Given the description of an element on the screen output the (x, y) to click on. 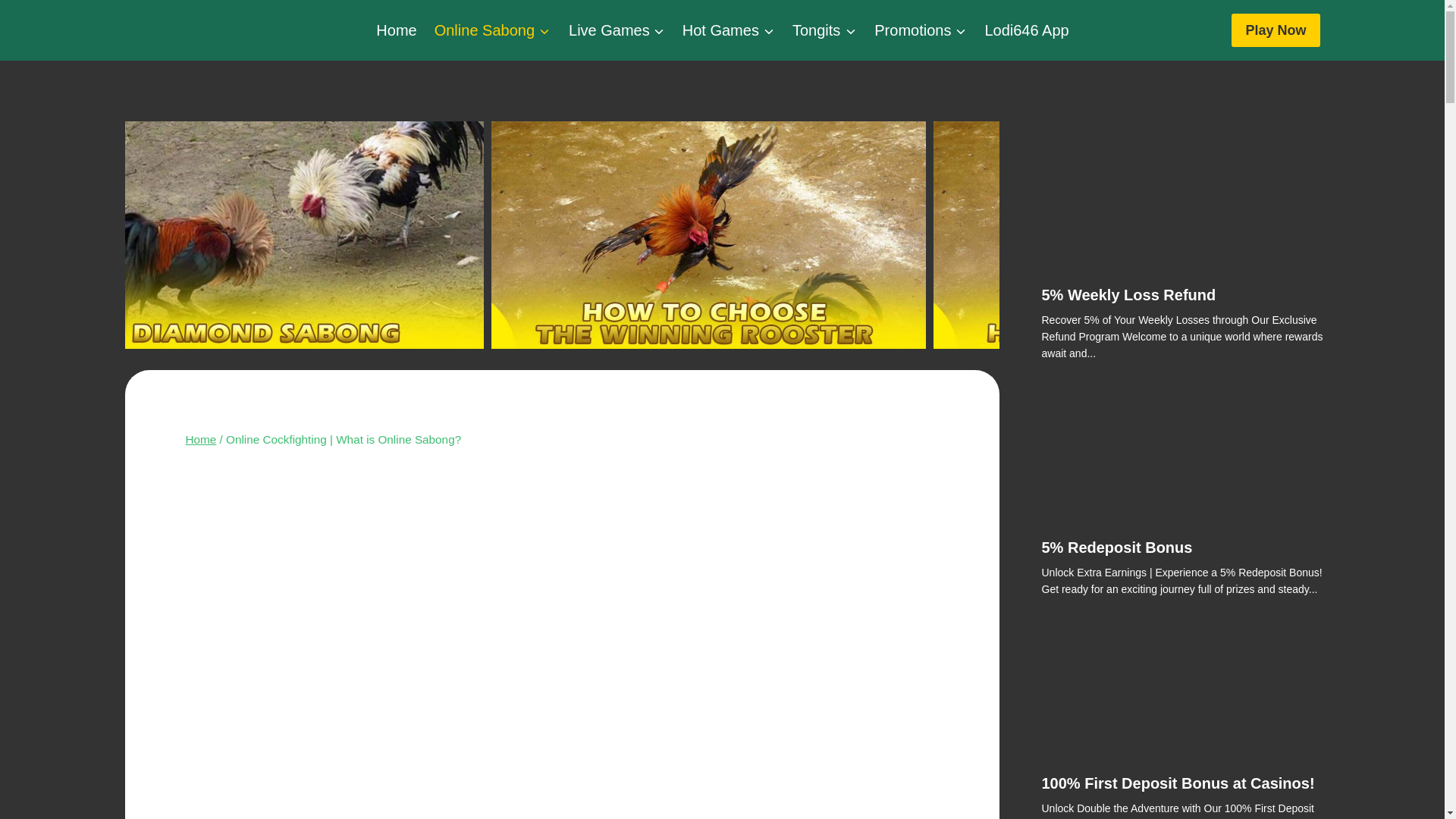
Lodi646 App (1026, 30)
Home (395, 30)
Online Sabong (492, 30)
Play Now (1275, 29)
Hot Games (727, 30)
Promotions (919, 30)
Tongits (823, 30)
Live Games (616, 30)
